Given the description of an element on the screen output the (x, y) to click on. 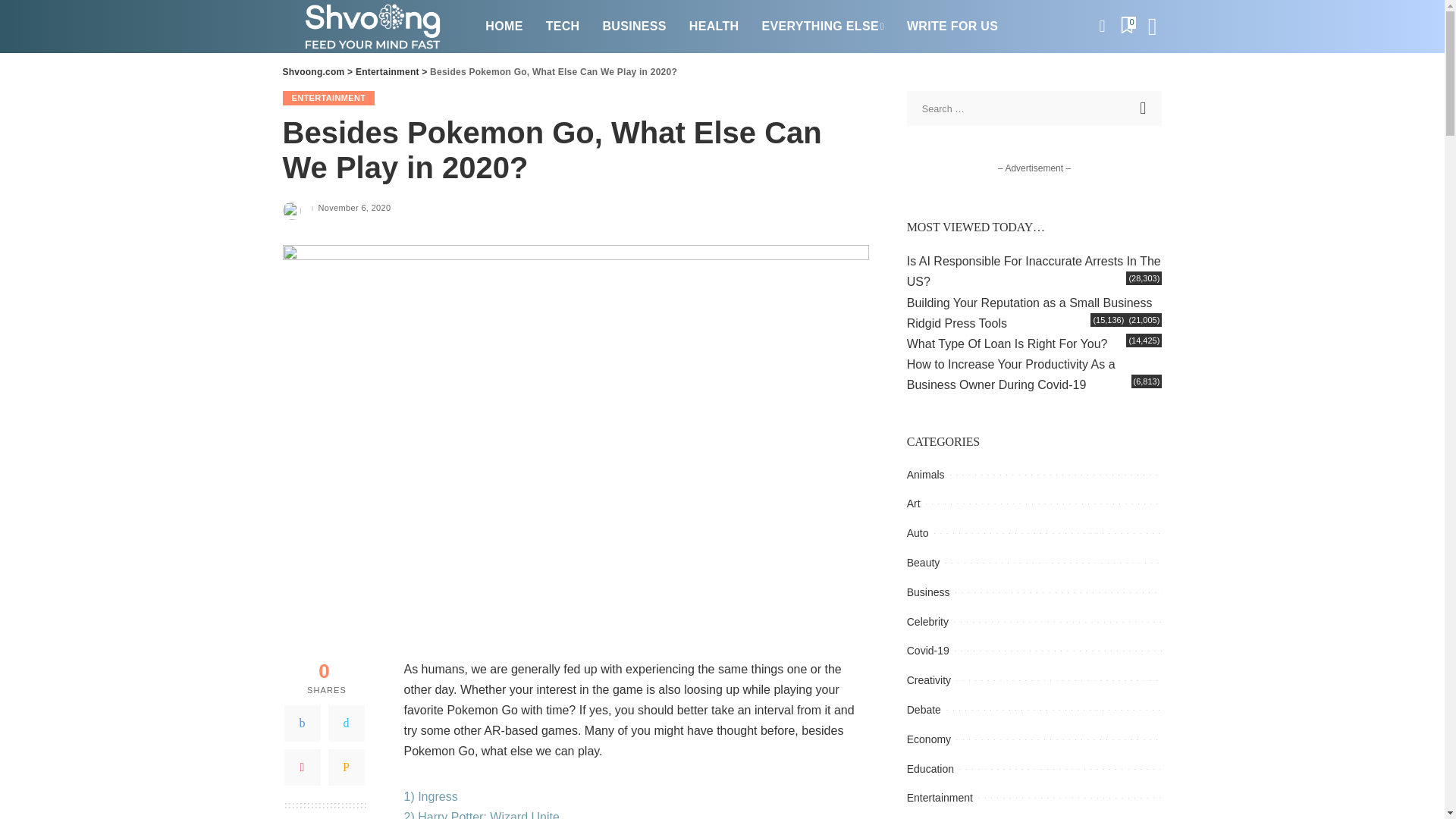
Search (1143, 108)
Search (1143, 108)
Shvoong.com (372, 26)
